Given the description of an element on the screen output the (x, y) to click on. 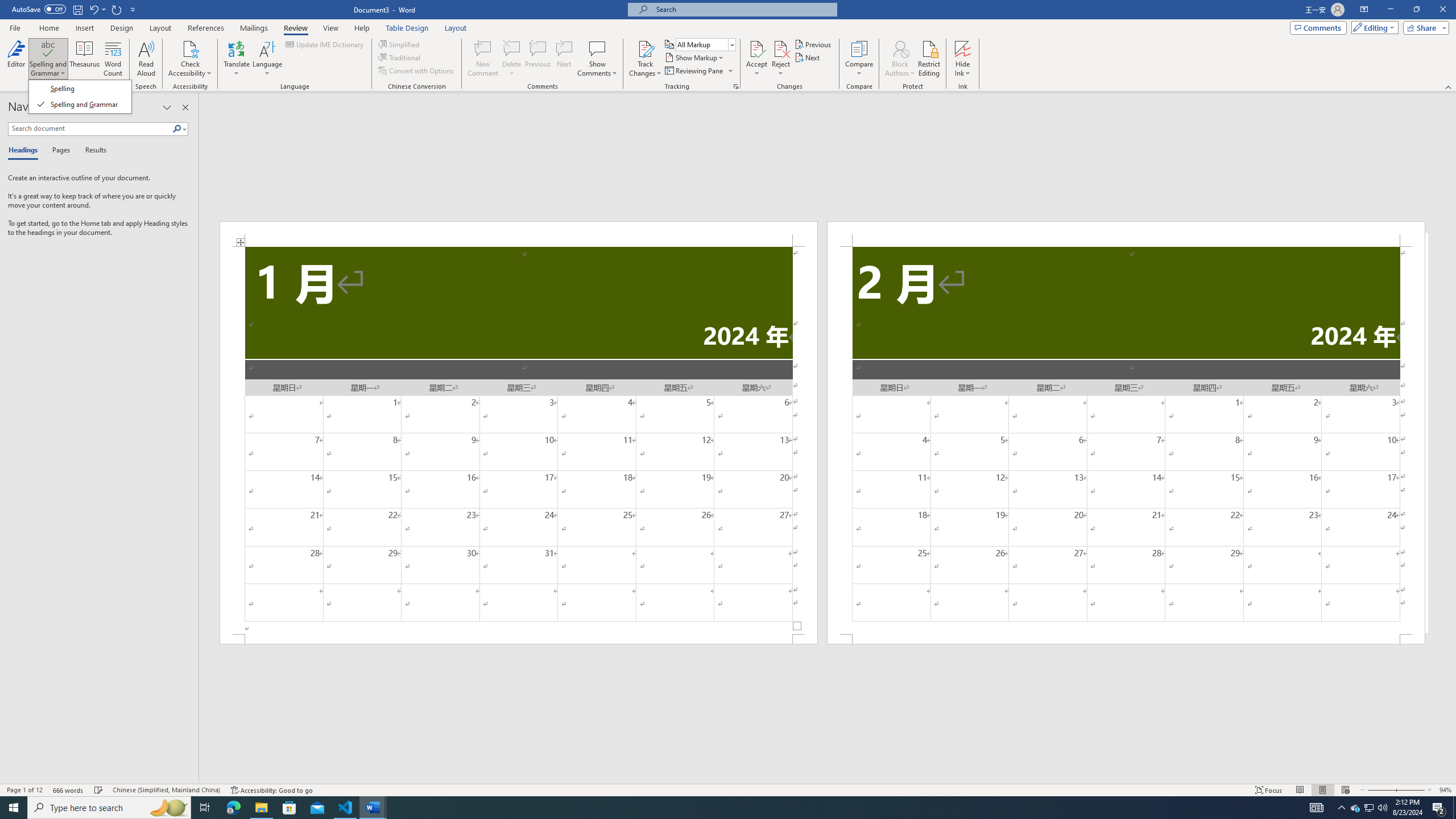
Page Number Page 1 of 12 (24, 790)
Show Comments (597, 48)
Read Aloud (145, 58)
Reject (780, 58)
Delete (511, 58)
Show Markup (695, 56)
Reviewing Pane (694, 69)
